Given the description of an element on the screen output the (x, y) to click on. 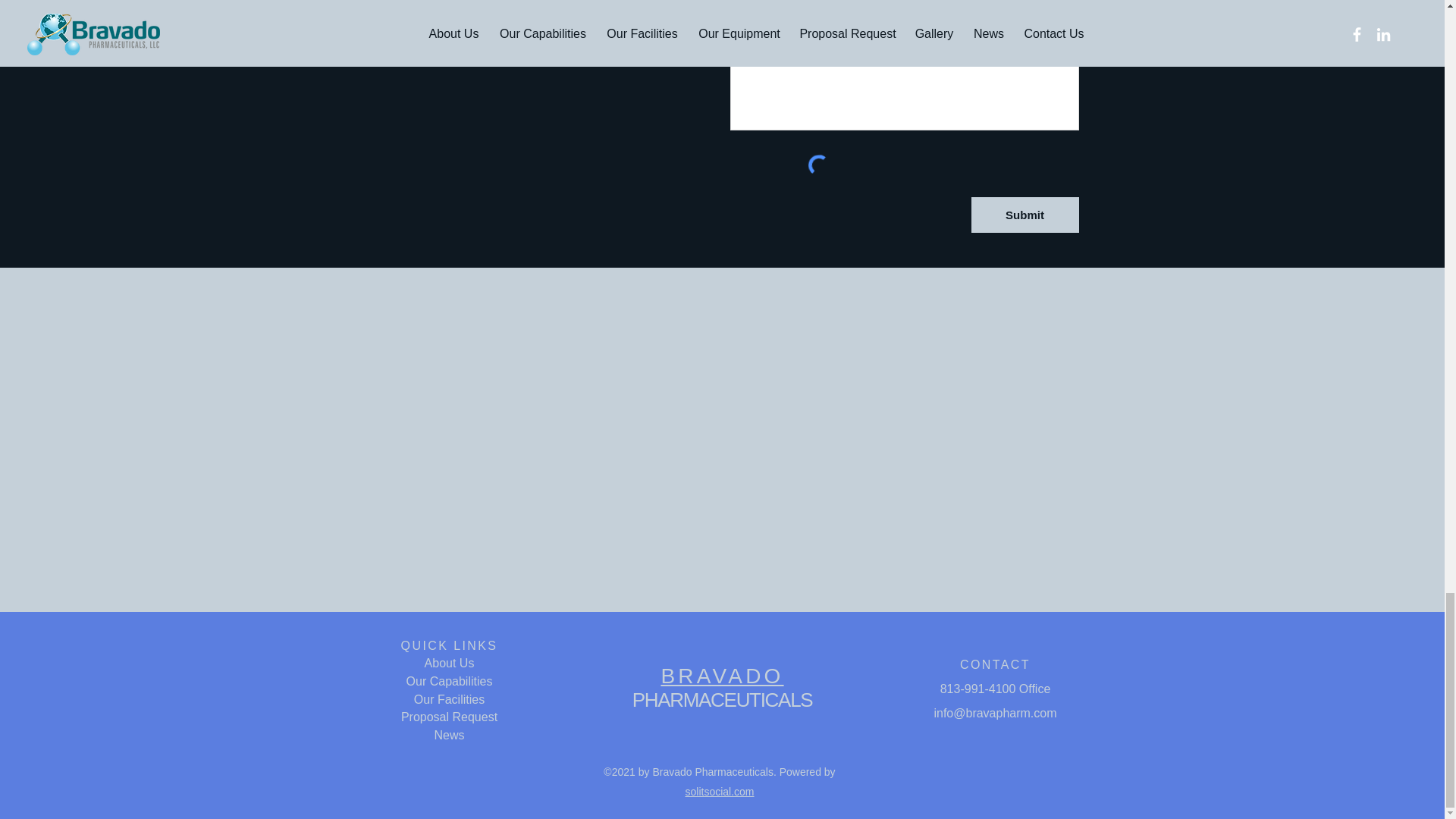
BRAVADO (722, 675)
solitsocial.com (719, 791)
News (448, 735)
Submit (1024, 214)
Our Facilities (448, 698)
About Us (449, 662)
Our Capabilities (449, 680)
Proposal Request (449, 716)
PHARMACEUTICALS (721, 699)
